Given the description of an element on the screen output the (x, y) to click on. 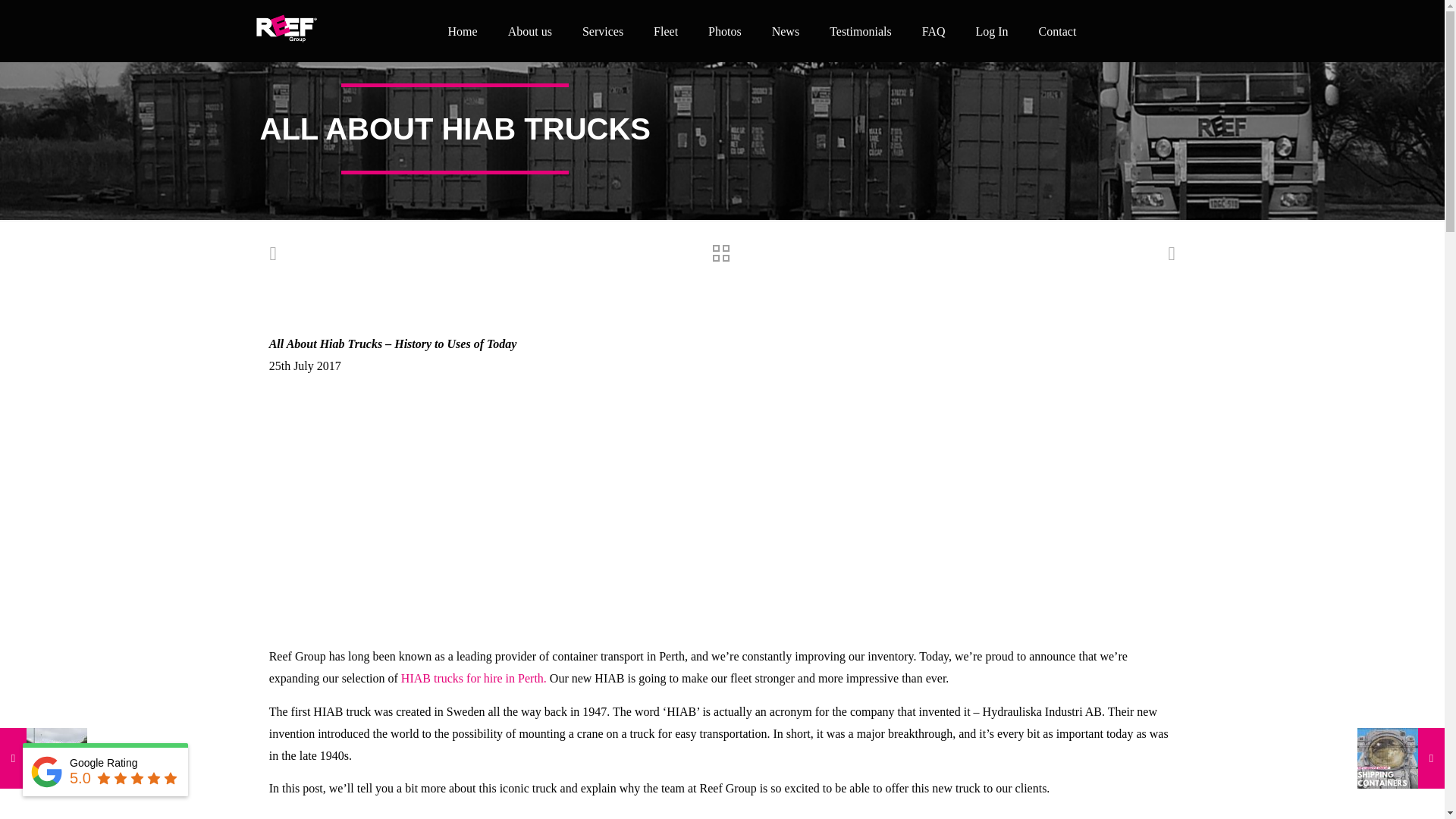
Fleet (666, 30)
Home (462, 30)
Photos (725, 30)
Testimonials (860, 30)
Contact (1057, 30)
News (785, 30)
FAQ (933, 30)
Services (603, 30)
Log In (991, 30)
About us (530, 30)
